Given the description of an element on the screen output the (x, y) to click on. 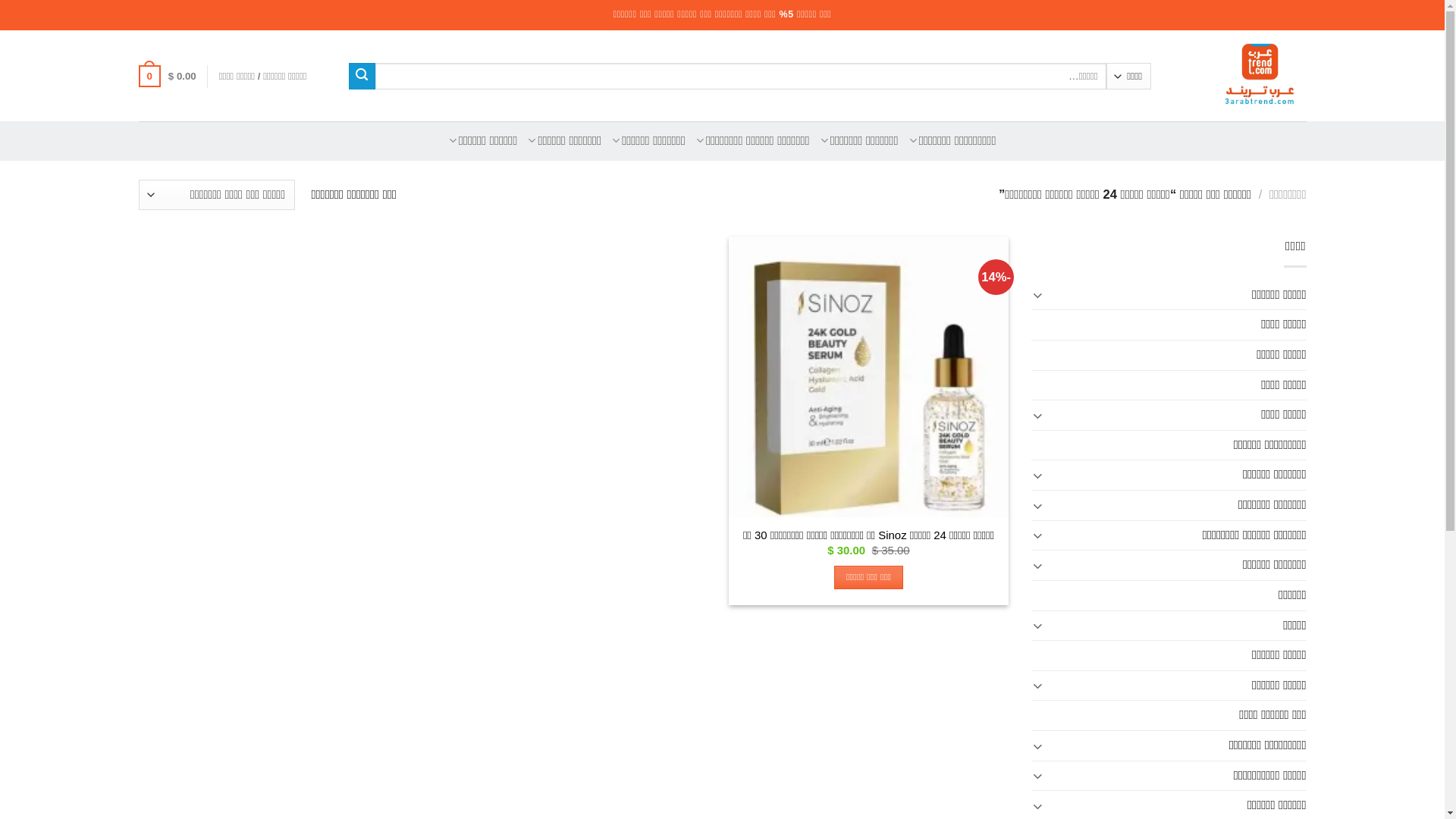
$ 0.00
0 Element type: text (166, 75)
